Given the description of an element on the screen output the (x, y) to click on. 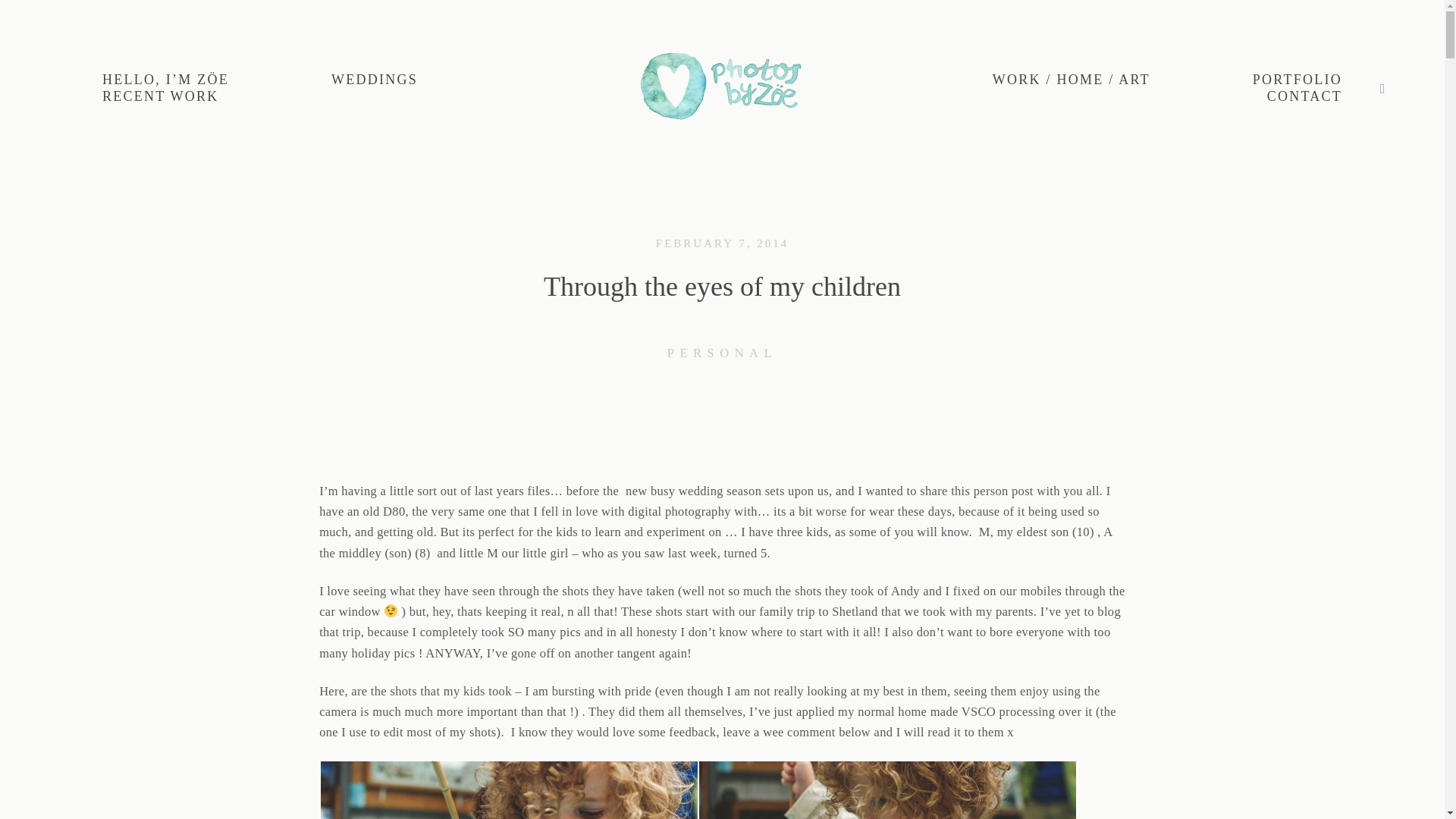
PERSONAL (721, 352)
CONTACT (1304, 96)
PORTFOLIO (1297, 80)
non clickable (1297, 80)
RECENT WORK (160, 96)
WEDDINGS (374, 80)
